Given the description of an element on the screen output the (x, y) to click on. 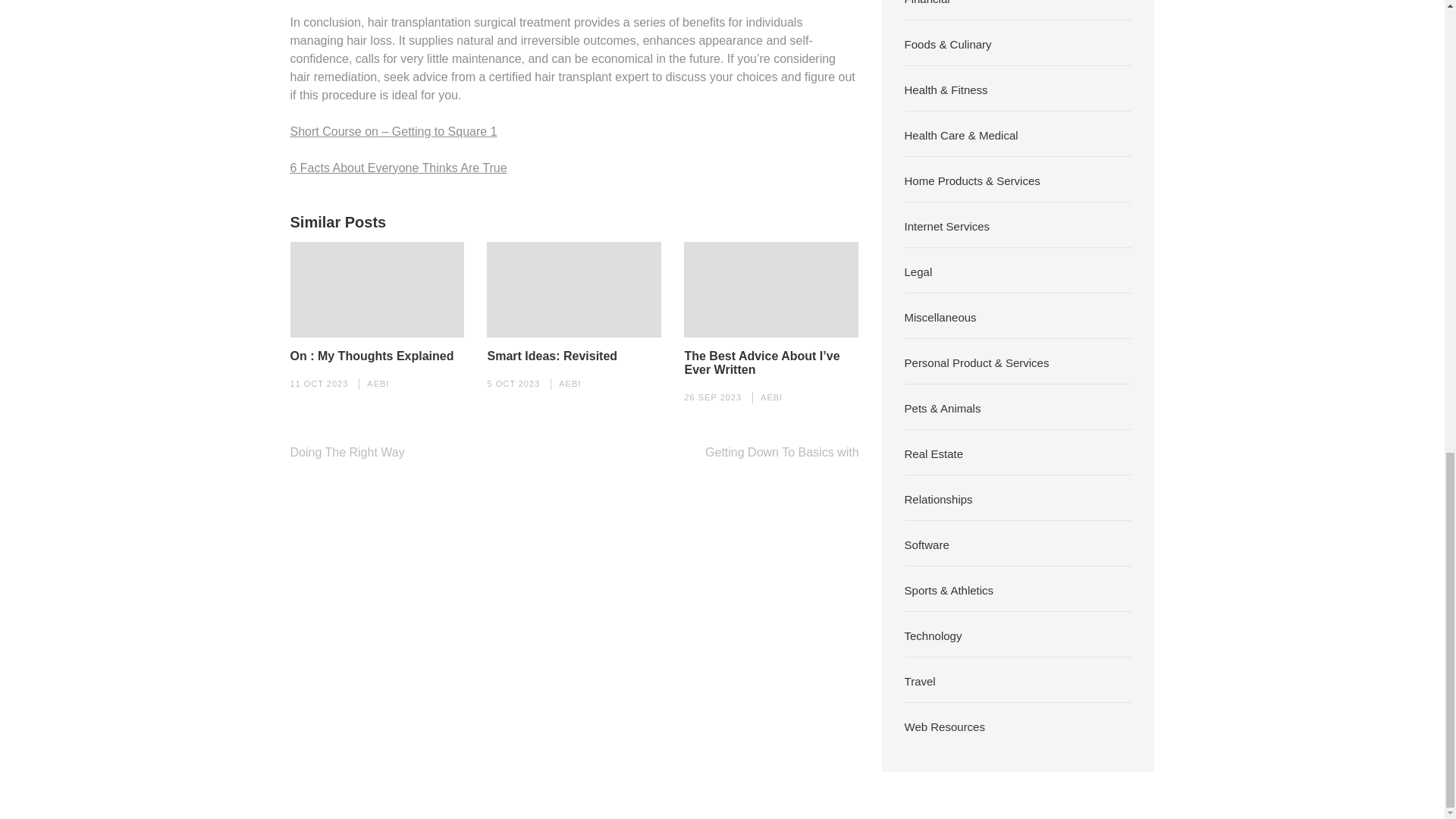
AEBI (569, 383)
Getting Down To Basics with (781, 451)
On : My Thoughts Explained (370, 356)
AEBI (377, 383)
5 OCT 2023 (513, 383)
11 OCT 2023 (318, 383)
Smart Ideas: Revisited (551, 356)
26 SEP 2023 (712, 397)
6 Facts About Everyone Thinks Are True (397, 166)
Doing The Right Way (346, 451)
AEBI (771, 397)
